Given the description of an element on the screen output the (x, y) to click on. 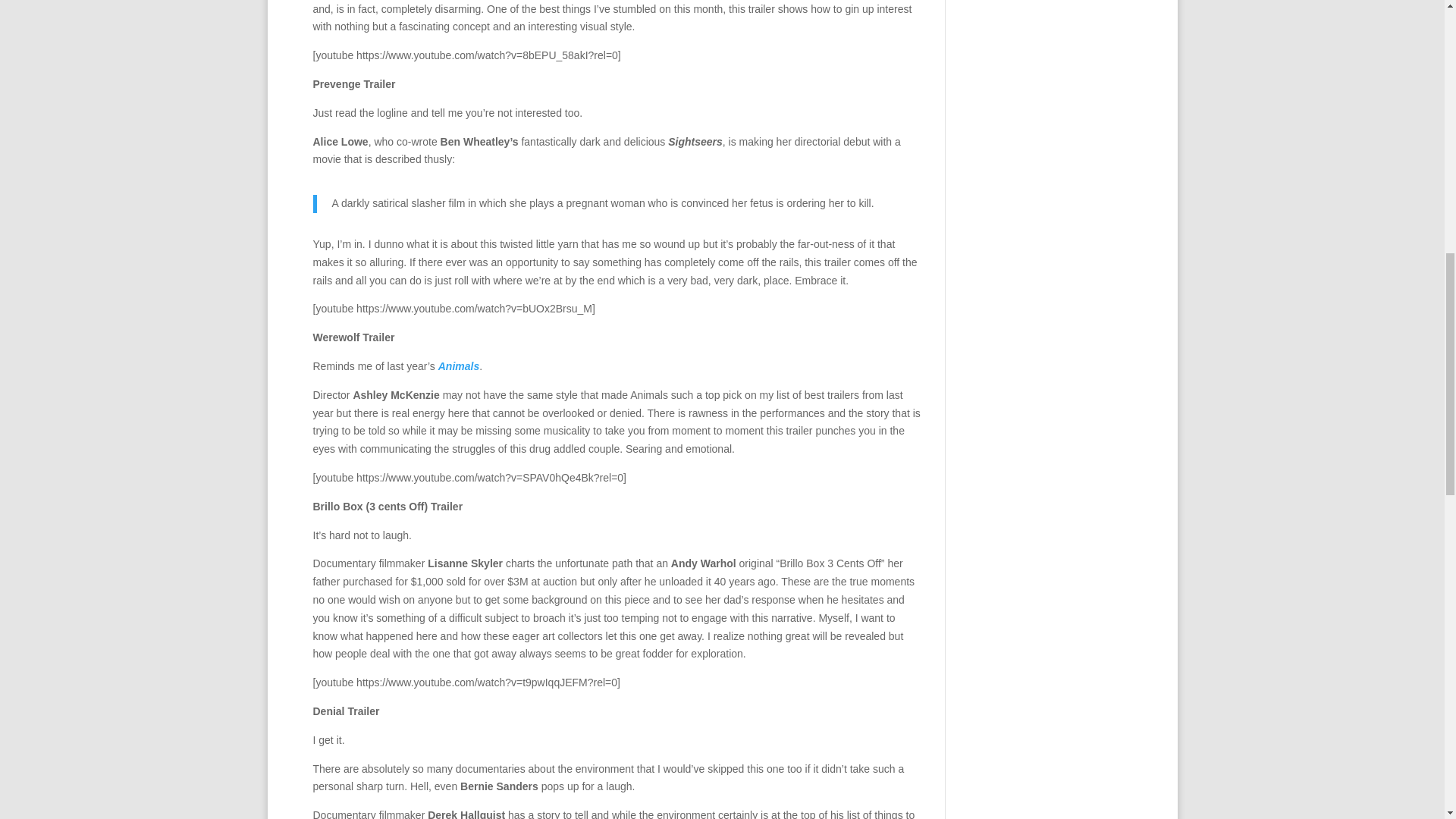
Animals (458, 366)
